Given the description of an element on the screen output the (x, y) to click on. 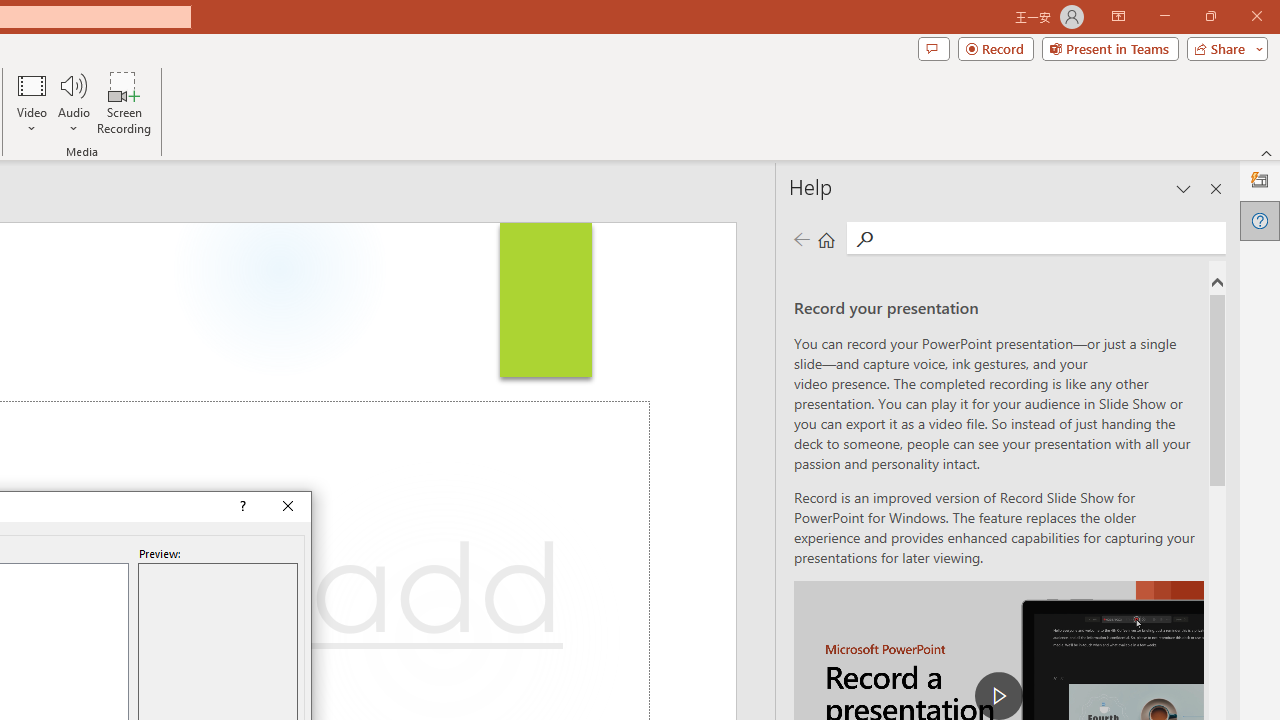
Context help (240, 506)
play Record a Presentation (998, 695)
